Given the description of an element on the screen output the (x, y) to click on. 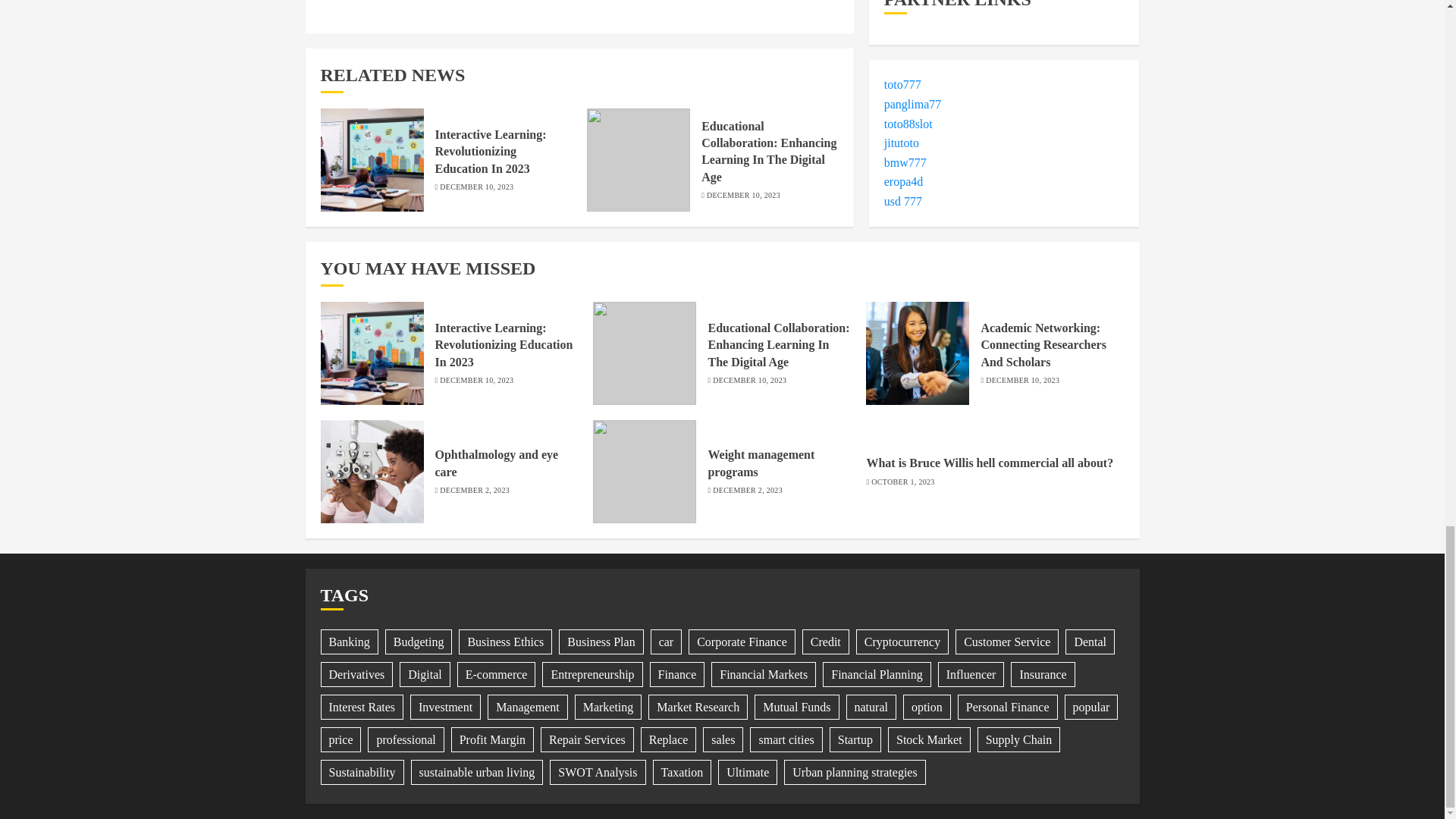
Interactive Learning: Revolutionizing Education In 2023 (491, 151)
DECEMBER 10, 2023 (476, 186)
DECEMBER 10, 2023 (743, 195)
